Given the description of an element on the screen output the (x, y) to click on. 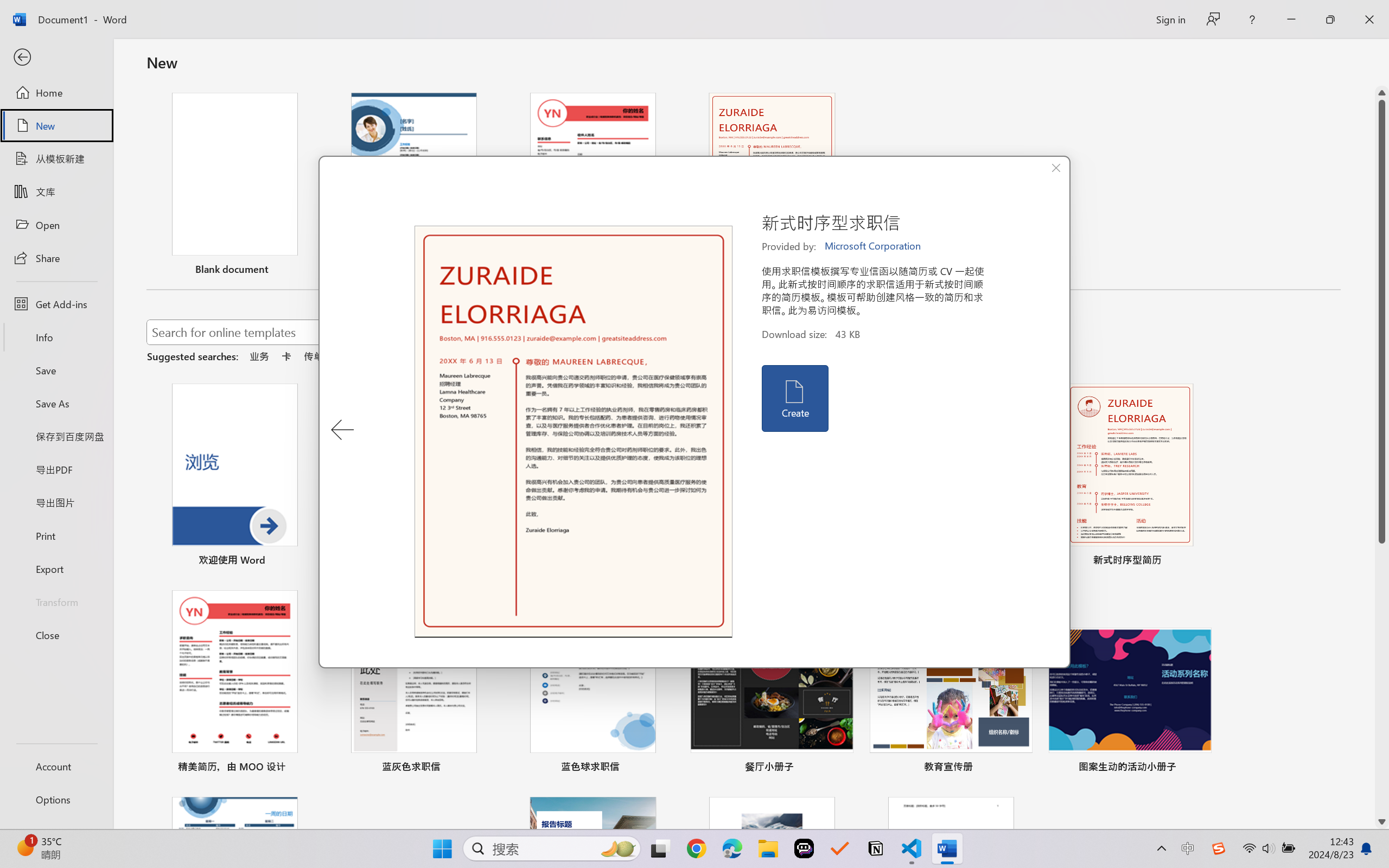
Export (56, 568)
Save As (56, 403)
Unpin from list (842, 270)
Options (56, 798)
